Given the description of an element on the screen output the (x, y) to click on. 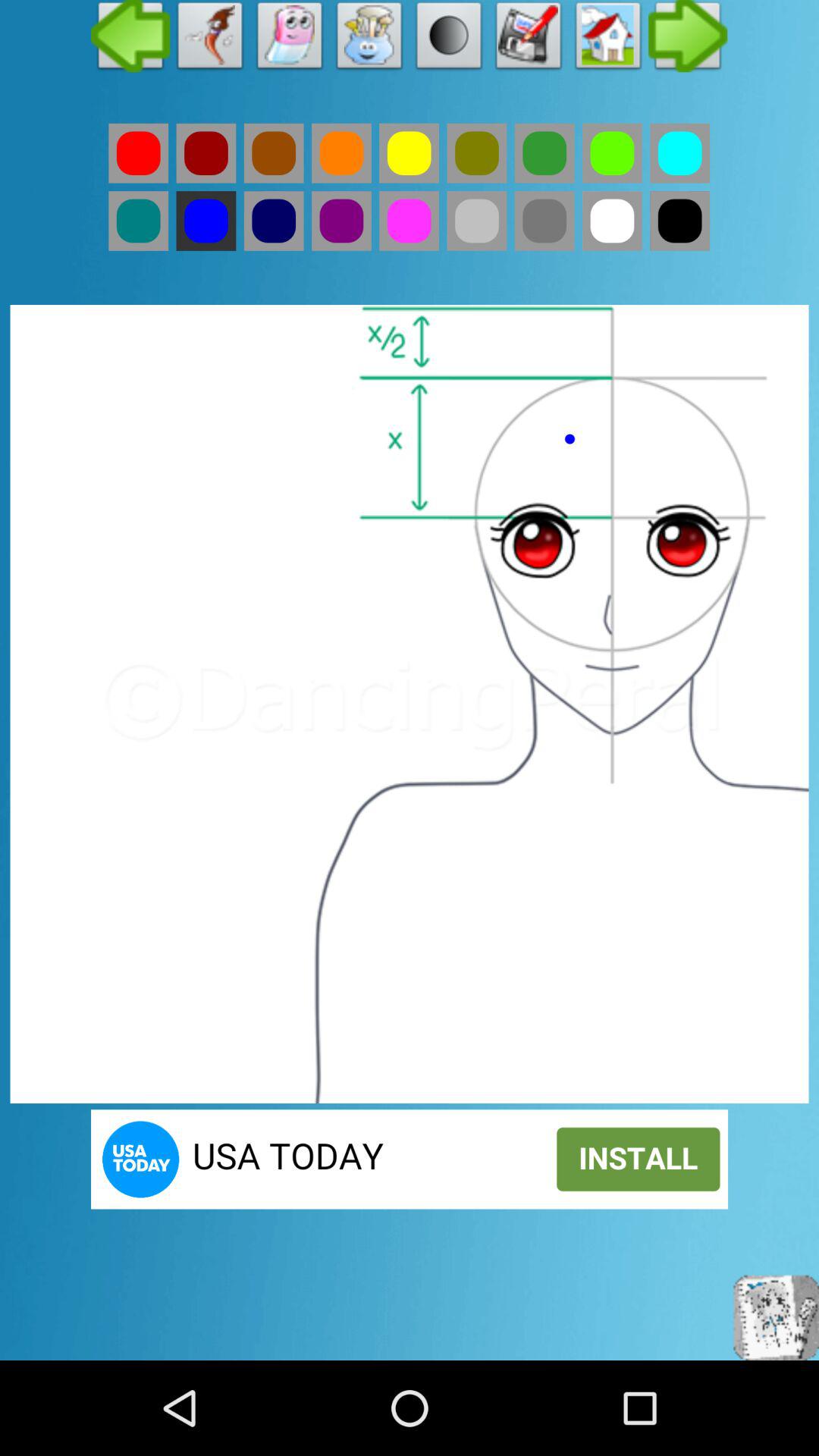
select the blue colour option (273, 220)
